Given the description of an element on the screen output the (x, y) to click on. 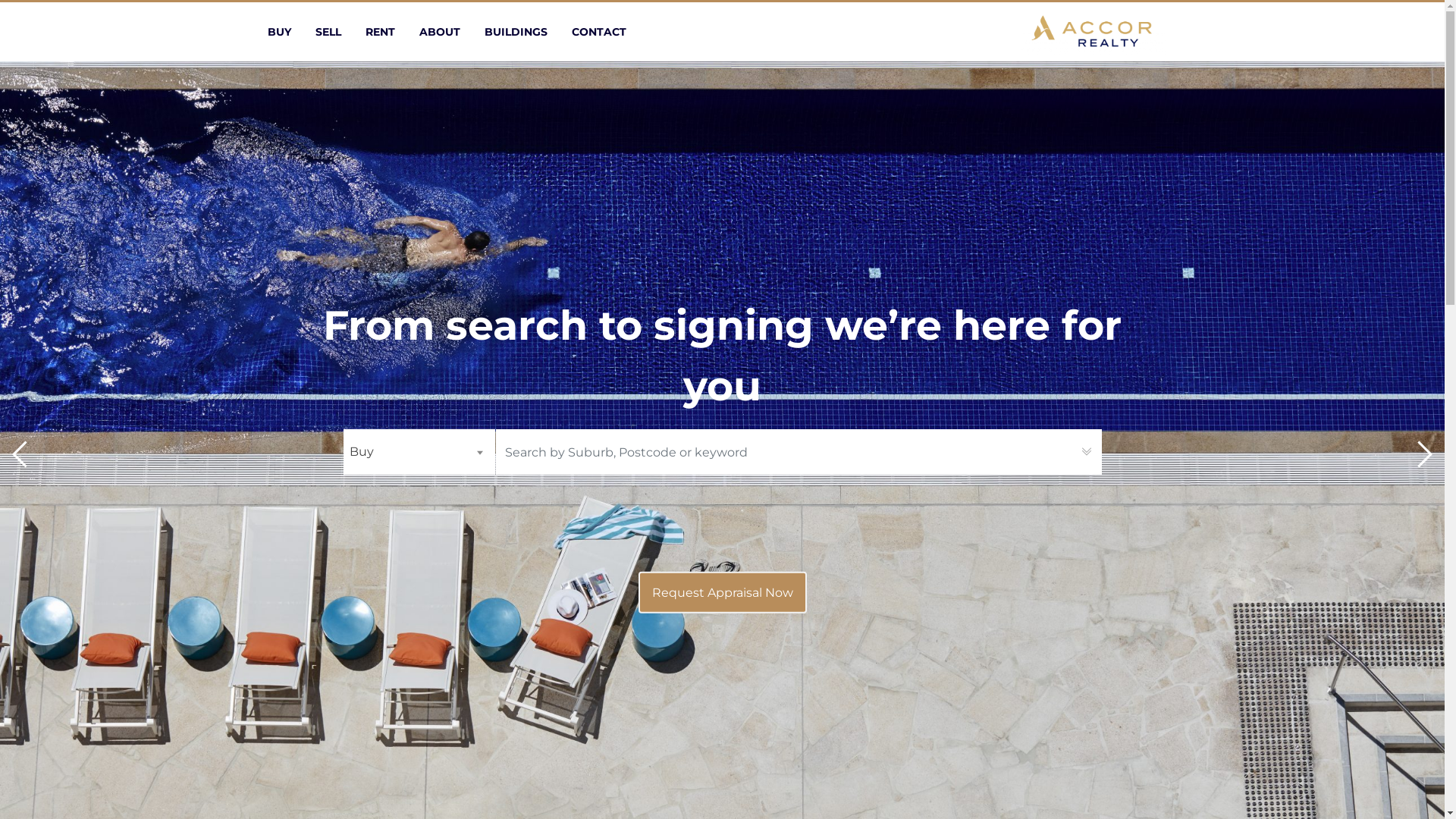
BUILDINGS Element type: text (514, 31)
ABOUT Element type: text (438, 31)
RENT Element type: text (380, 31)
SELL Element type: text (328, 31)
Request Appraisal Now Element type: text (722, 592)
BUY Element type: text (278, 31)
CONTACT Element type: text (598, 31)
